Given the description of an element on the screen output the (x, y) to click on. 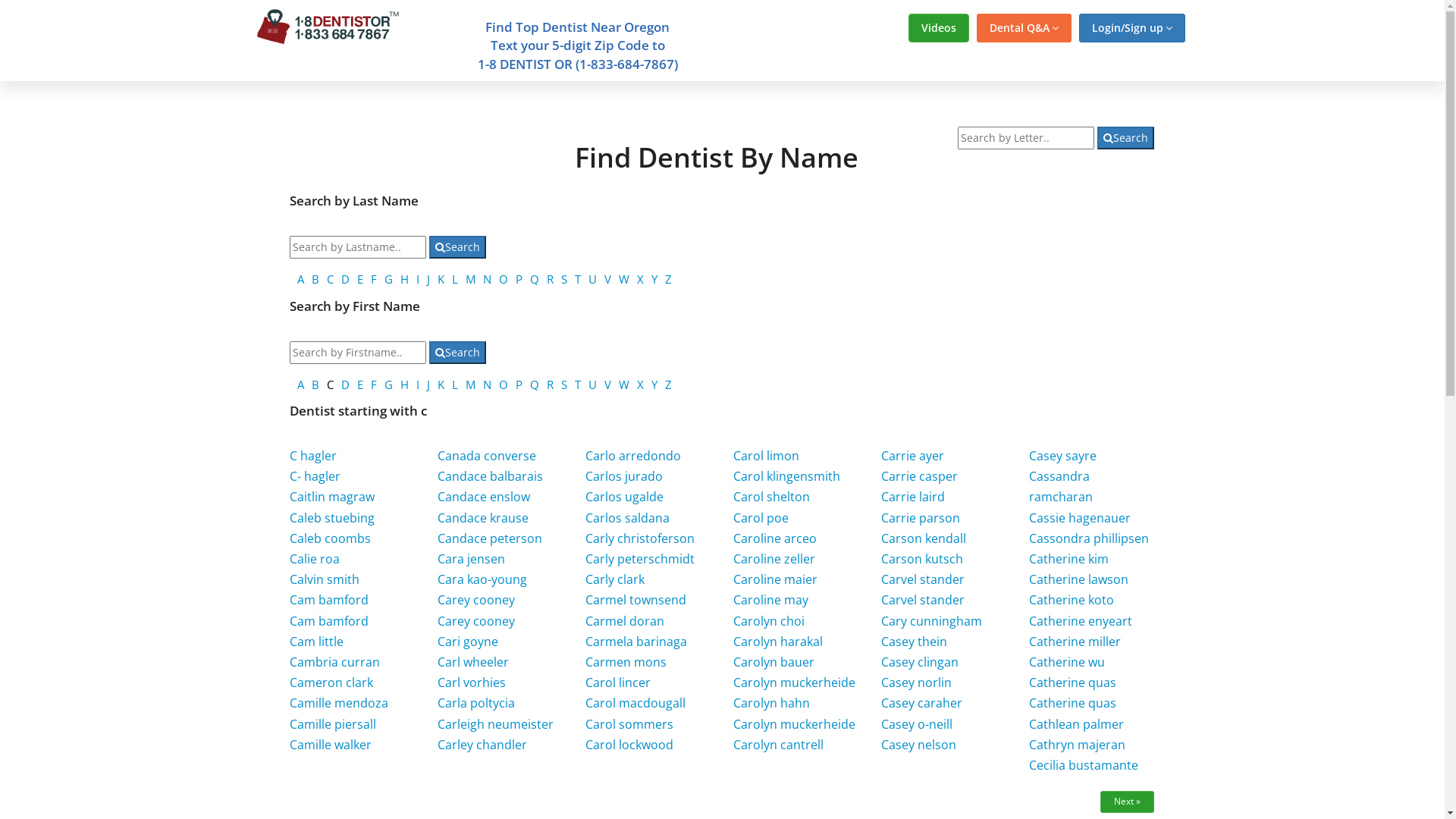
Carmel townsend Element type: text (635, 599)
C hagler Element type: text (312, 455)
Camille walker Element type: text (330, 744)
Caroline zeller Element type: text (774, 558)
Candace enslow Element type: text (483, 496)
Search Element type: text (457, 352)
Carol sommers Element type: text (629, 723)
Carol lockwood Element type: text (629, 744)
Carl vorhies Element type: text (471, 682)
H Element type: text (404, 278)
N Element type: text (487, 278)
Carly clark Element type: text (614, 579)
Carleigh neumeister Element type: text (495, 723)
Carrie casper Element type: text (919, 475)
Carol poe Element type: text (760, 517)
R Element type: text (549, 384)
Carey cooney Element type: text (475, 599)
Caroline may Element type: text (770, 599)
Calie roa Element type: text (314, 558)
Cam bamford Element type: text (328, 599)
Carolyn bauer Element type: text (773, 661)
Calvin smith Element type: text (324, 579)
Caroline maier Element type: text (775, 579)
X Element type: text (640, 384)
Caleb coombs Element type: text (329, 538)
Search Element type: text (1125, 137)
W Element type: text (623, 278)
S Element type: text (564, 384)
Carol shelton Element type: text (771, 496)
F Element type: text (373, 278)
Cara kao-young Element type: text (482, 579)
Candace balbarais Element type: text (489, 475)
Z Element type: text (668, 278)
J Element type: text (427, 278)
G Element type: text (388, 384)
Cam bamford Element type: text (328, 620)
L Element type: text (454, 278)
Cara jensen Element type: text (471, 558)
Catherine wu Element type: text (1066, 661)
Carlos saldana Element type: text (627, 517)
Casey nelson Element type: text (918, 744)
Casey o-neill Element type: text (916, 723)
Carrie ayer Element type: text (912, 455)
Caleb stuebing Element type: text (331, 517)
Carey cooney Element type: text (475, 620)
Carlos jurado Element type: text (623, 475)
Camille mendoza Element type: text (338, 702)
Carrie parson Element type: text (920, 517)
E Element type: text (360, 278)
Y Element type: text (654, 384)
Carson kendall Element type: text (923, 538)
C Element type: text (329, 278)
T Element type: text (577, 384)
Candace peterson Element type: text (489, 538)
Caroline arceo Element type: text (774, 538)
Cassandra ramcharan Element type: text (1060, 486)
Catherine miller Element type: text (1074, 641)
K Element type: text (440, 384)
I Element type: text (417, 278)
Carol limon Element type: text (766, 455)
O Element type: text (503, 278)
Carvel stander Element type: text (922, 579)
Carl wheeler Element type: text (472, 661)
Carlos ugalde Element type: text (624, 496)
C- hagler Element type: text (314, 475)
Carolyn muckerheide Element type: text (794, 723)
Cameron clark Element type: text (331, 682)
Casey caraher Element type: text (921, 702)
Carol klingensmith Element type: text (786, 475)
E Element type: text (360, 384)
K Element type: text (440, 278)
O Element type: text (503, 384)
S Element type: text (564, 278)
Y Element type: text (654, 278)
Z Element type: text (668, 384)
Carly peterschmidt Element type: text (639, 558)
Login/Sign up Element type: text (1131, 27)
G Element type: text (388, 278)
Cathlean palmer Element type: text (1076, 723)
A Element type: text (300, 384)
B Element type: text (315, 384)
Catherine quas Element type: text (1072, 682)
Carson kutsch Element type: text (922, 558)
Carley chandler Element type: text (482, 744)
Catherine koto Element type: text (1071, 599)
Carolyn choi Element type: text (768, 620)
A Element type: text (300, 278)
Catherine lawson Element type: text (1078, 579)
Search Element type: text (457, 246)
Carolyn hahn Element type: text (771, 702)
Cecilia bustamante Element type: text (1083, 764)
Q Element type: text (534, 278)
Casey thein Element type: text (914, 641)
Carmel doran Element type: text (624, 620)
Q Element type: text (534, 384)
U Element type: text (592, 384)
M Element type: text (470, 278)
I Element type: text (417, 384)
Cassondra phillipsen Element type: text (1088, 538)
T Element type: text (577, 278)
N Element type: text (487, 384)
J Element type: text (427, 384)
D Element type: text (345, 278)
Carol macdougall Element type: text (635, 702)
Candace krause Element type: text (482, 517)
Catherine quas Element type: text (1072, 702)
Carolyn muckerheide Element type: text (794, 682)
Carla poltycia Element type: text (475, 702)
Carly christoferson Element type: text (639, 538)
Cari goyne Element type: text (467, 641)
Canada converse Element type: text (486, 455)
V Element type: text (607, 278)
Casey sayre Element type: text (1062, 455)
Videos Element type: text (938, 27)
R Element type: text (549, 278)
Casey norlin Element type: text (916, 682)
Cam little Element type: text (316, 641)
Carlo arredondo Element type: text (632, 455)
Cambria curran Element type: text (334, 661)
D Element type: text (345, 384)
Carolyn cantrell Element type: text (778, 744)
P Element type: text (518, 278)
Catherine kim Element type: text (1068, 558)
Camille piersall Element type: text (332, 723)
Catherine enyeart Element type: text (1080, 620)
L Element type: text (454, 384)
Dental Q&A Element type: text (1023, 27)
Carmela barinaga Element type: text (636, 641)
X Element type: text (640, 278)
P Element type: text (518, 384)
W Element type: text (623, 384)
Casey clingan Element type: text (919, 661)
Carolyn harakal Element type: text (777, 641)
B Element type: text (315, 278)
U Element type: text (592, 278)
F Element type: text (373, 384)
Cary cunningham Element type: text (931, 620)
Carrie laird Element type: text (912, 496)
Carmen mons Element type: text (625, 661)
Carol lincer Element type: text (617, 682)
V Element type: text (607, 384)
H Element type: text (404, 384)
Carvel stander Element type: text (922, 599)
Caitlin magraw Element type: text (331, 496)
Cassie hagenauer Element type: text (1079, 517)
Cathryn majeran Element type: text (1077, 744)
M Element type: text (470, 384)
